Given the description of an element on the screen output the (x, y) to click on. 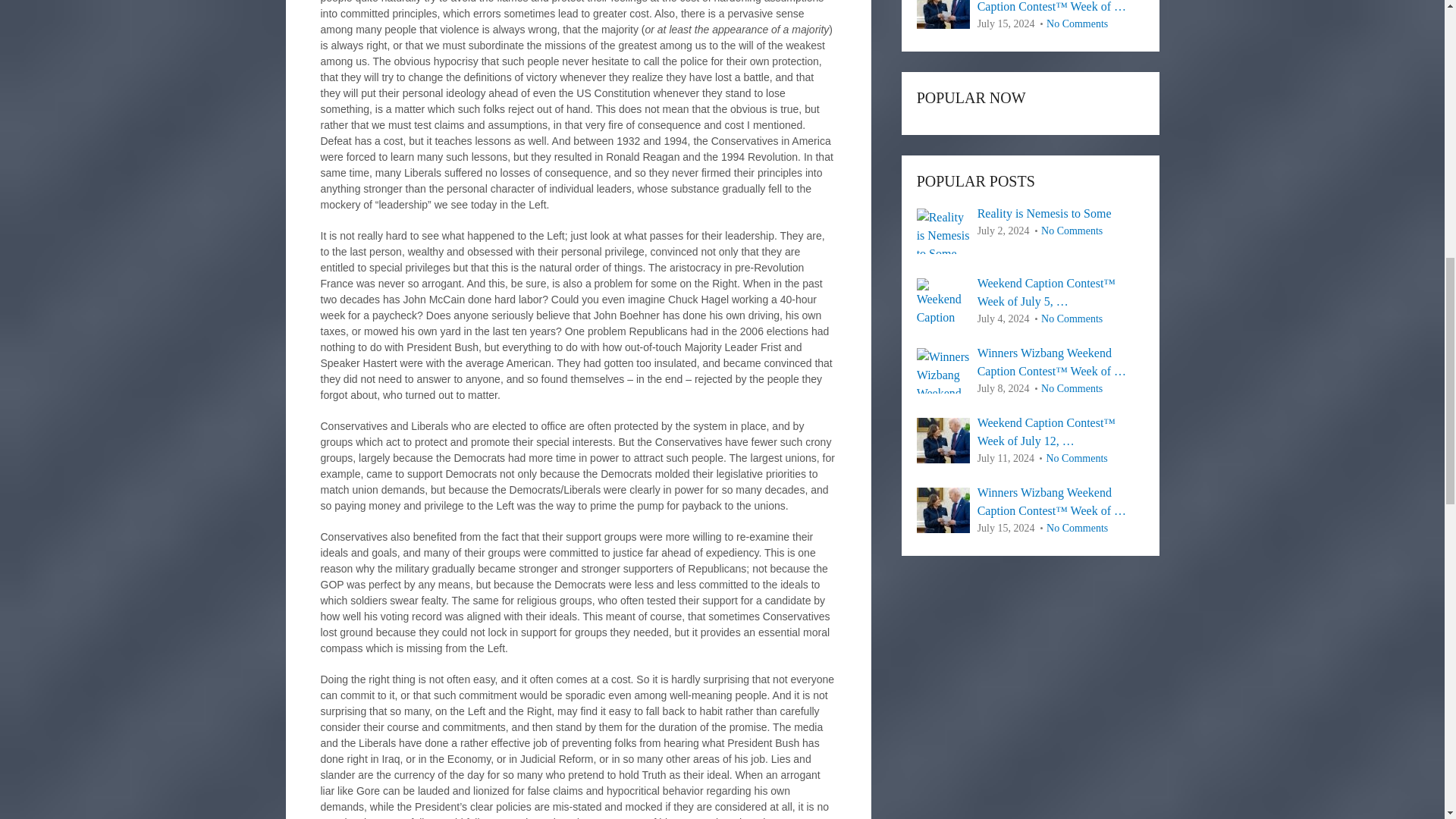
Reality is Nemesis to Some (1030, 213)
